Given the description of an element on the screen output the (x, y) to click on. 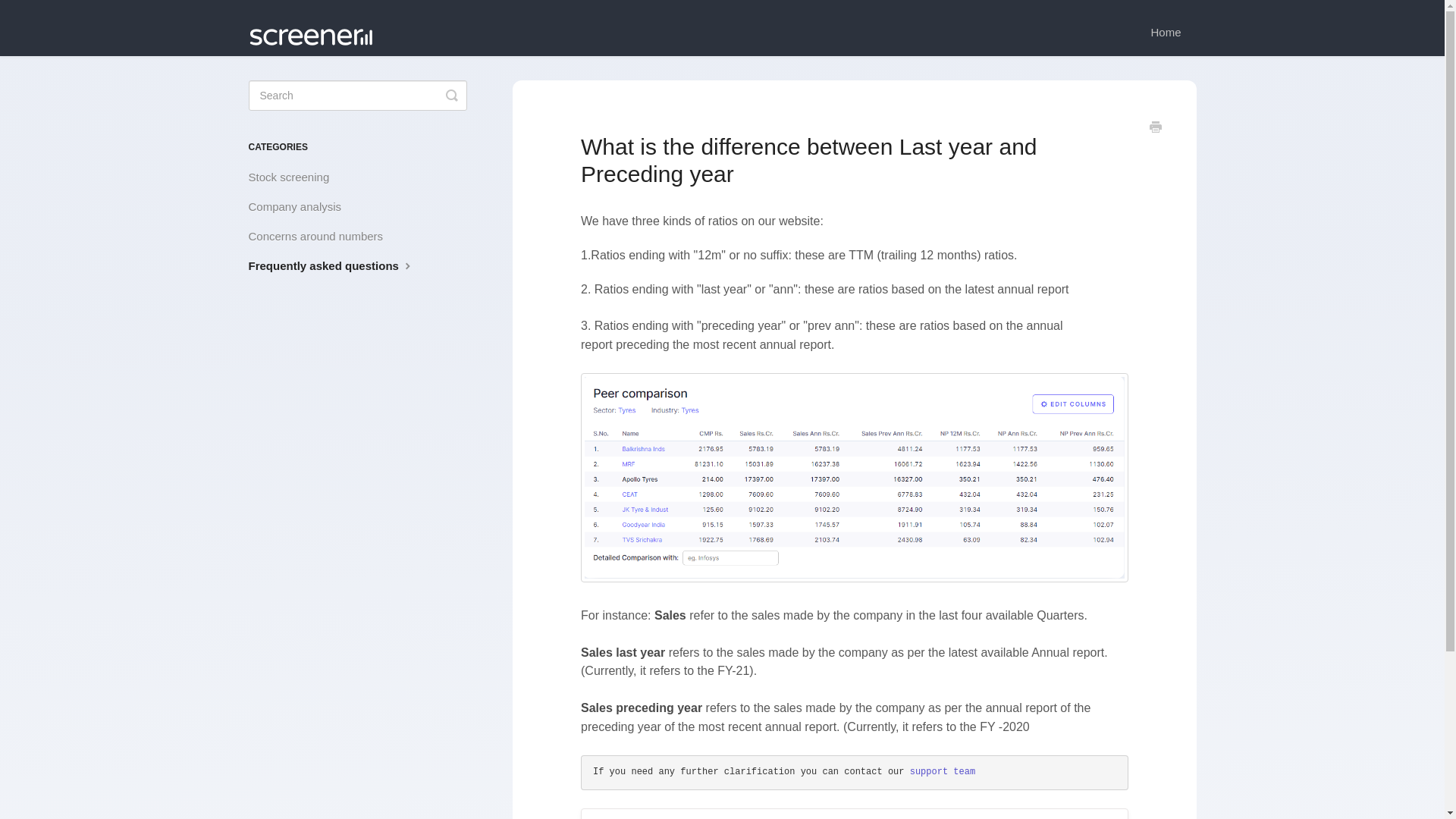
Company analysis (300, 206)
Concerns around numbers (321, 236)
Frequently asked questions (338, 266)
Stock screening (294, 176)
support team (942, 771)
search-query (357, 95)
Home (1165, 32)
